Given the description of an element on the screen output the (x, y) to click on. 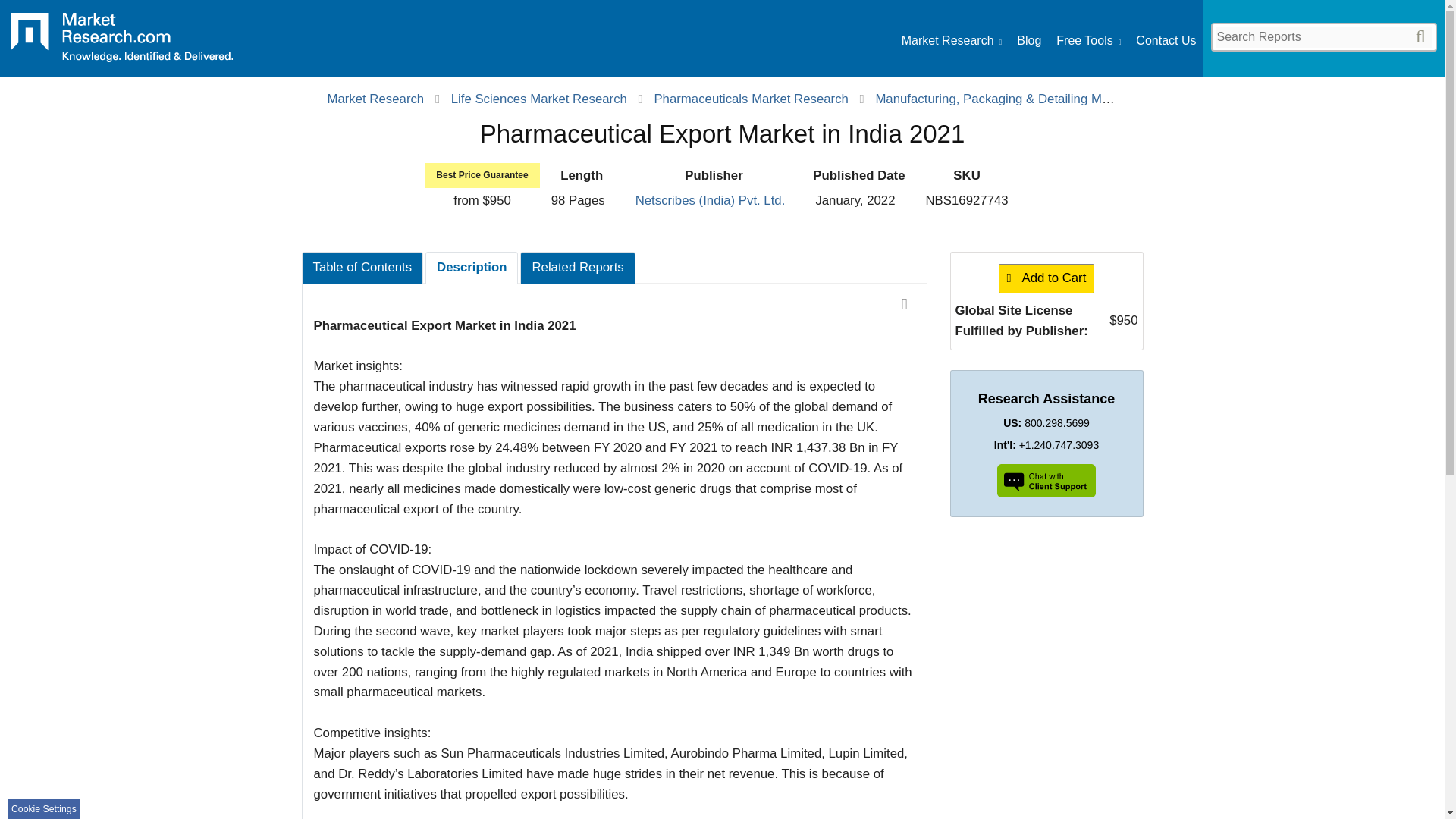
Learn more about market research with these free tools (1089, 40)
Life Sciences Market Research (539, 98)
Browse Market Research Industries (951, 40)
Market Research (121, 42)
Add to Cart (1046, 278)
Market Research (951, 40)
Description (471, 267)
Search for specific text within reports (1323, 36)
Get in touch with MarketResearch.com (1165, 40)
Related Reports (576, 267)
